Given the description of an element on the screen output the (x, y) to click on. 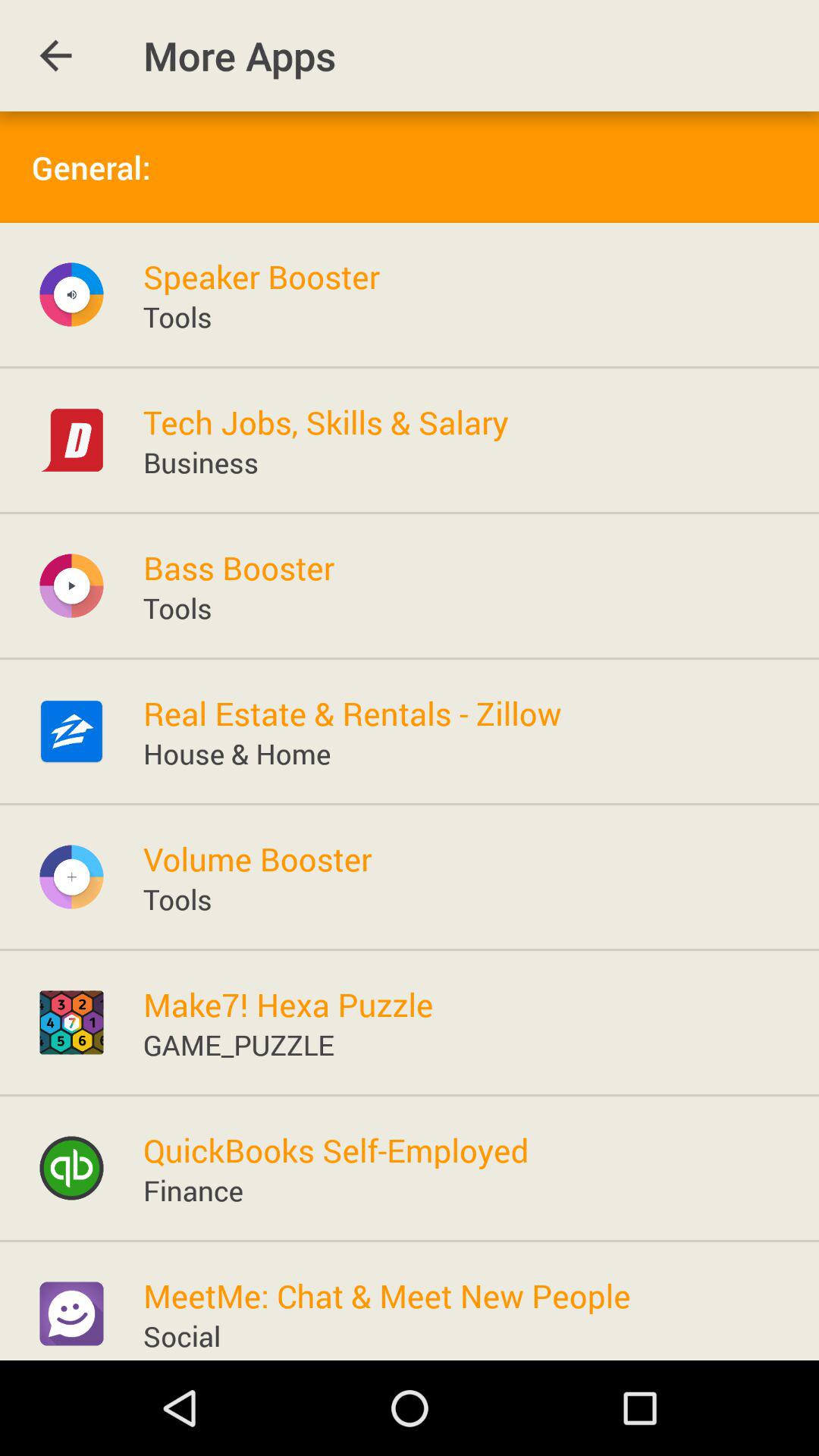
select icon below tech jobs skills (200, 461)
